Given the description of an element on the screen output the (x, y) to click on. 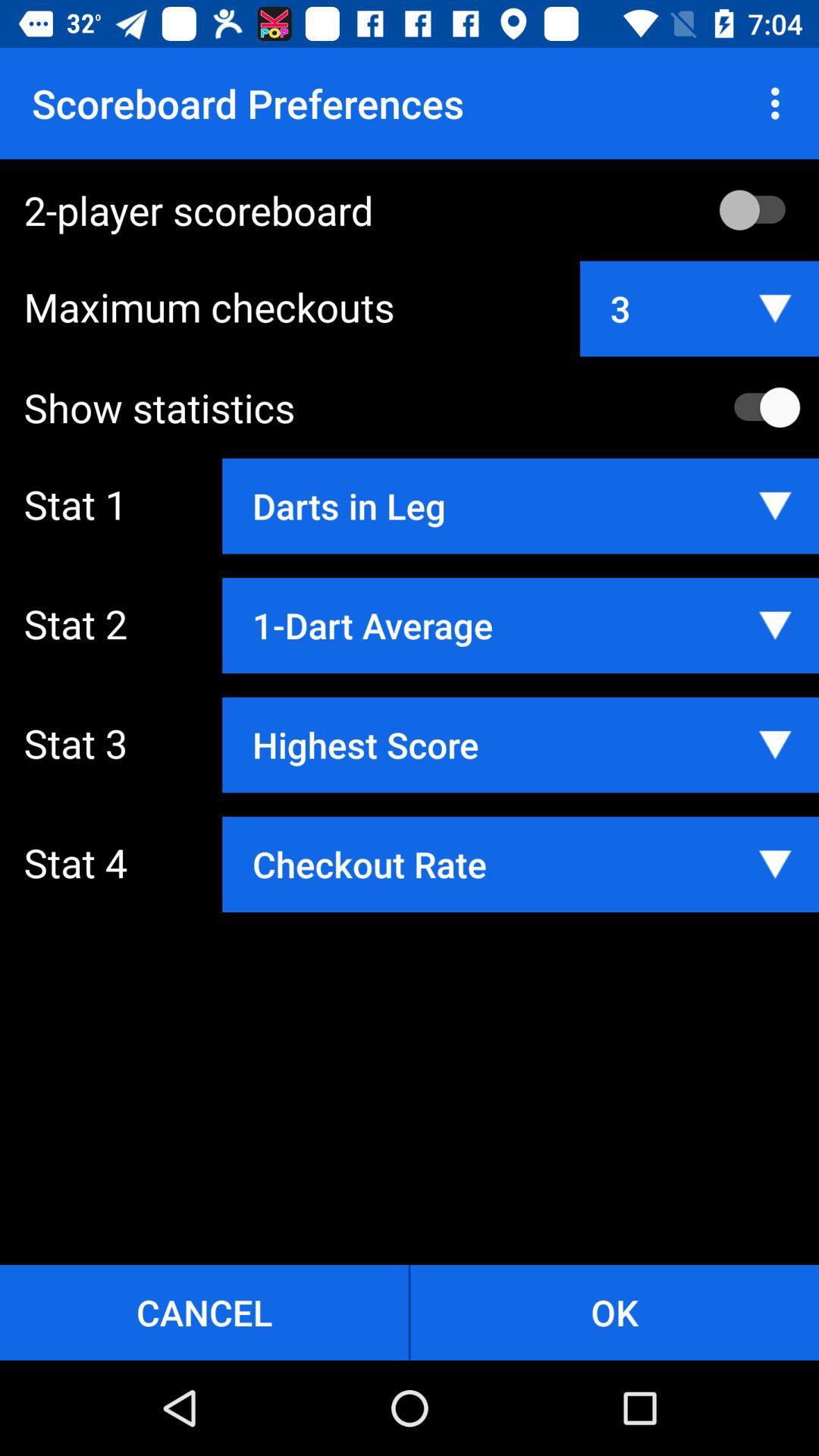
tap the show statistics item (421, 407)
